Given the description of an element on the screen output the (x, y) to click on. 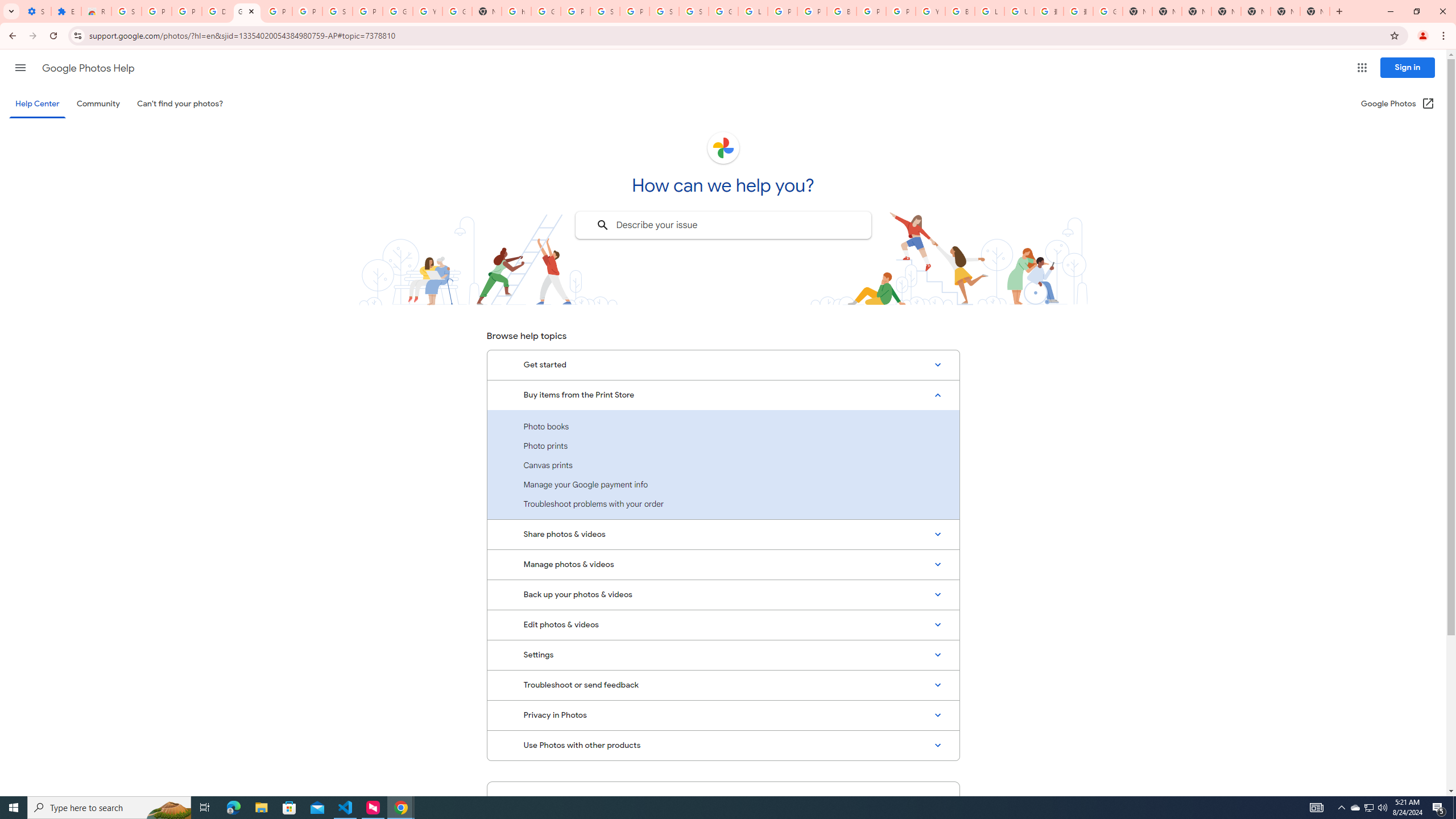
Manage your Google payment info (722, 484)
Canvas prints (722, 465)
New Tab (1314, 11)
YouTube (930, 11)
Community (97, 103)
